Given the description of an element on the screen output the (x, y) to click on. 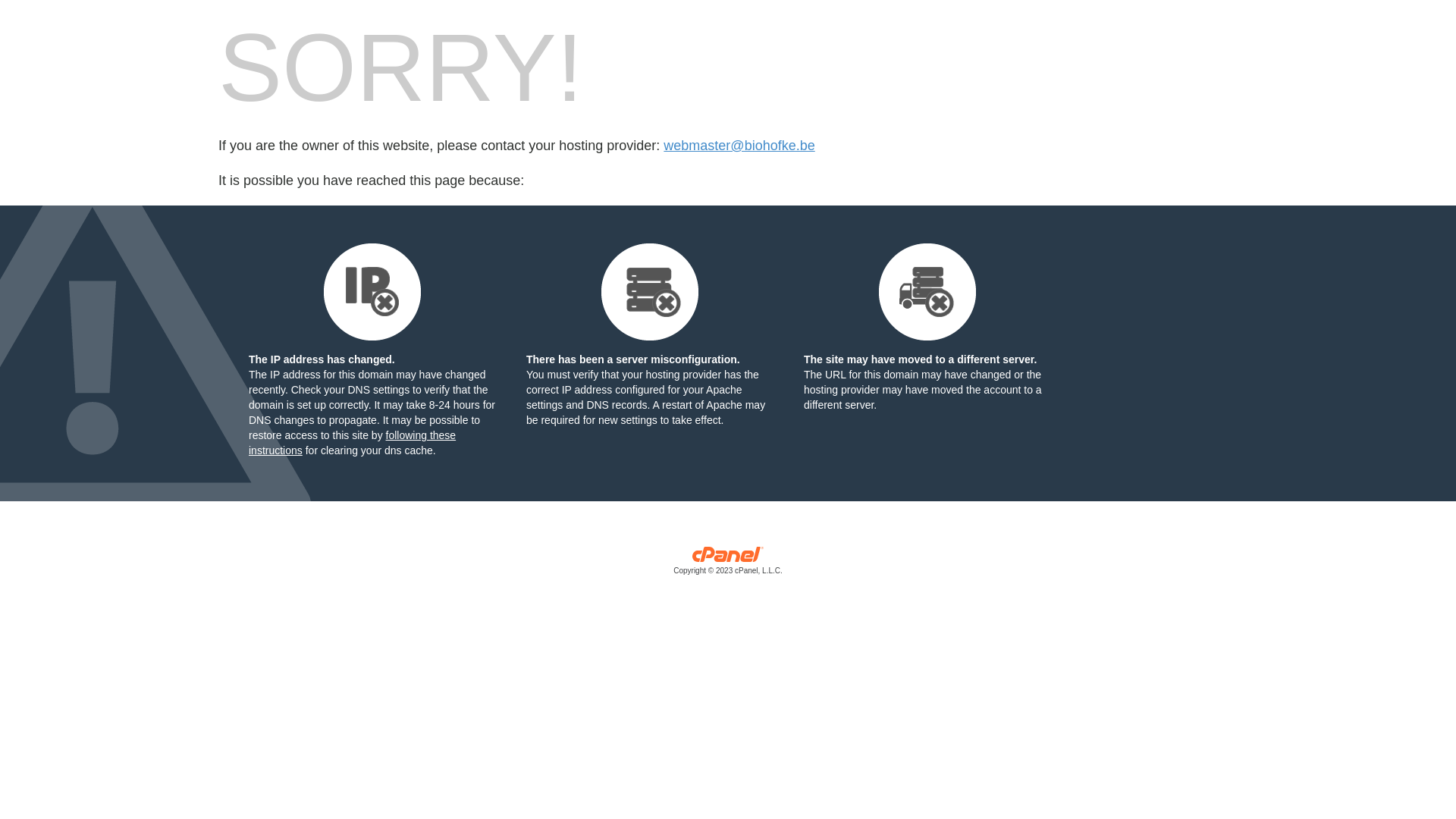
webmaster@biohofke.be Element type: text (738, 145)
following these instructions Element type: text (351, 442)
